Given the description of an element on the screen output the (x, y) to click on. 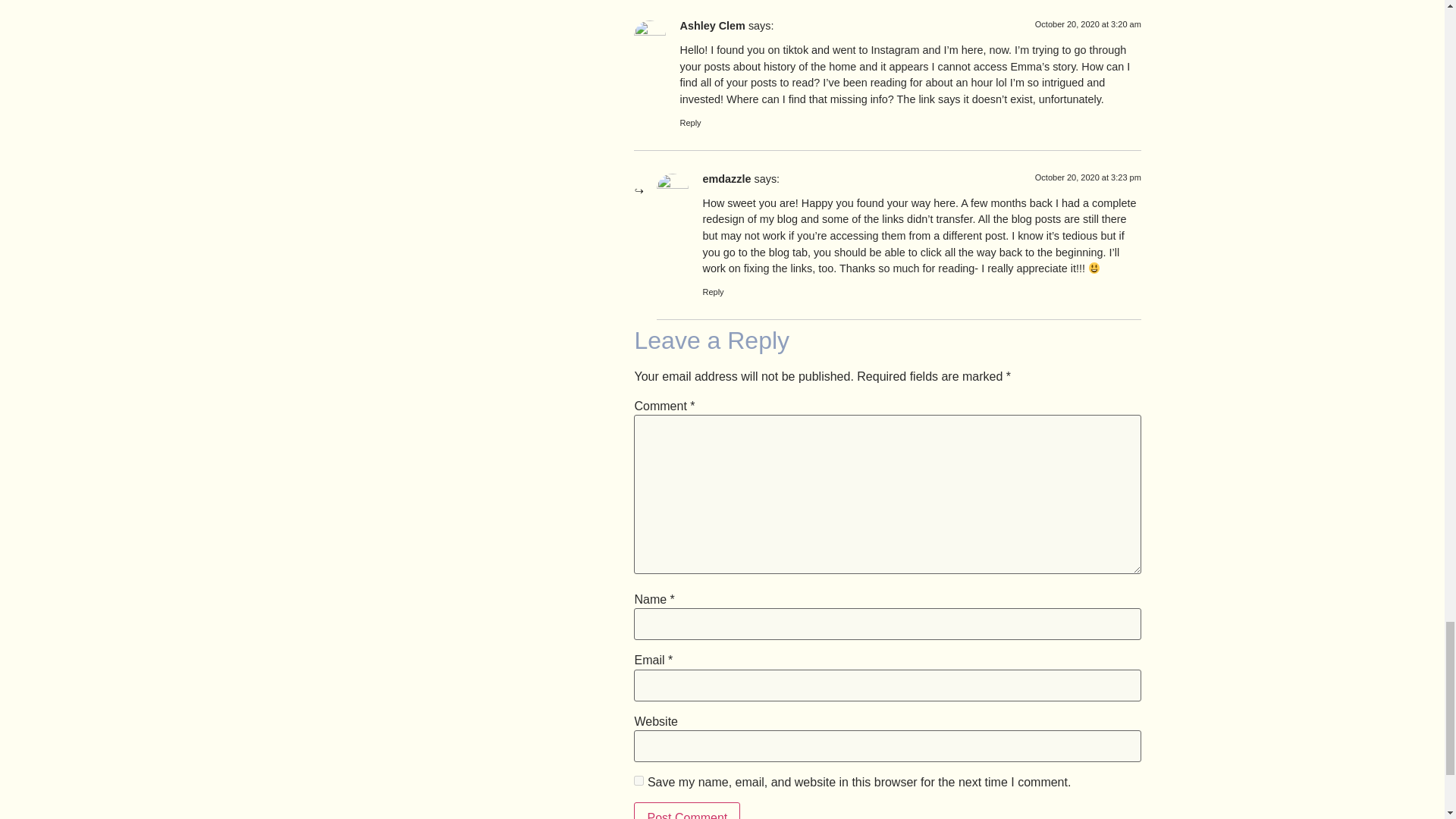
Reply (712, 291)
October 20, 2020 at 3:23 pm (1088, 176)
Post Comment (686, 810)
Reply (689, 122)
yes (638, 780)
Post Comment (686, 810)
October 20, 2020 at 3:20 am (1088, 23)
